Given the description of an element on the screen output the (x, y) to click on. 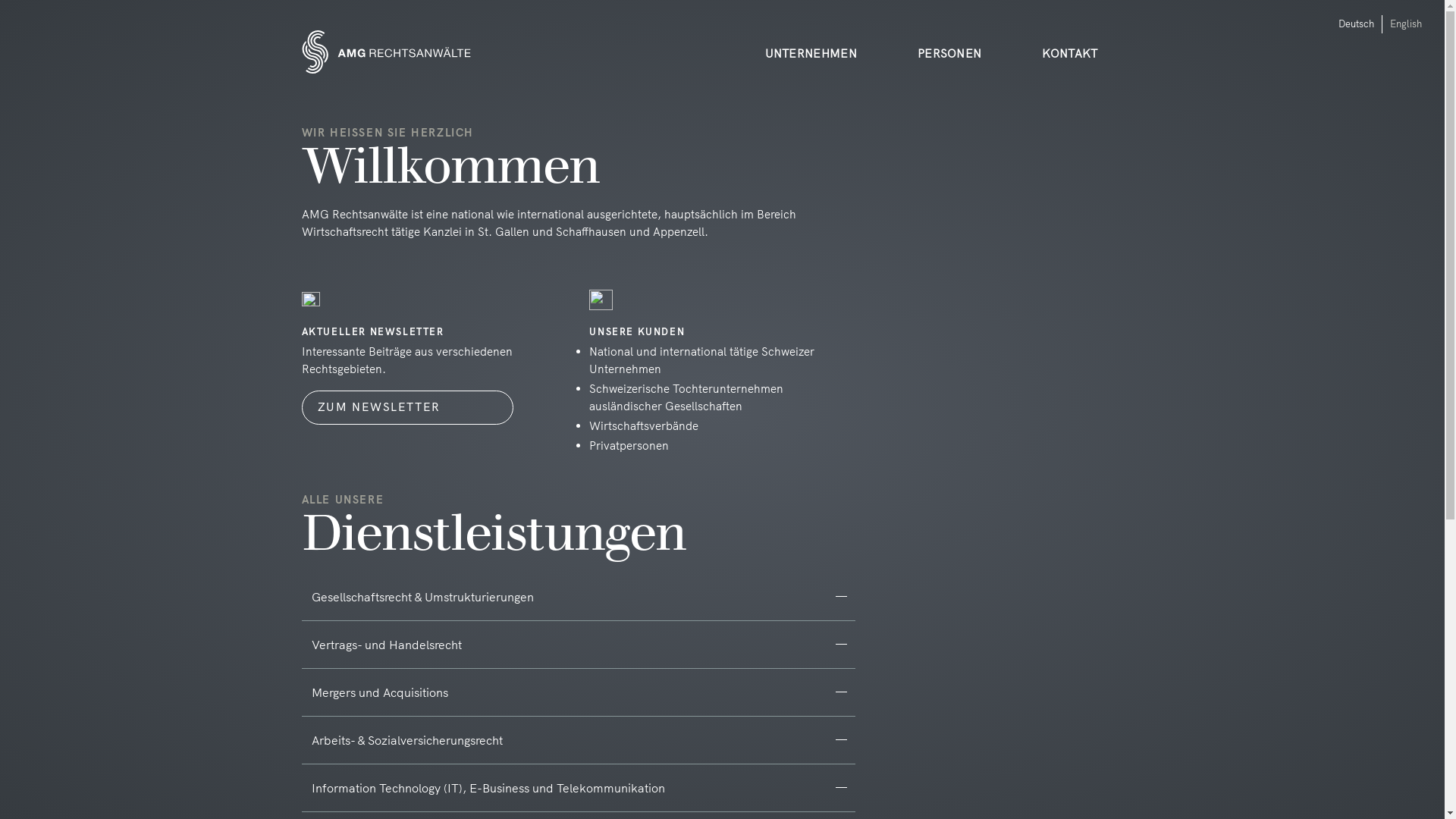
Vertrags- und Handelsrecht Element type: text (578, 644)
Mergers und Acquisitions Element type: text (578, 691)
ZUM NEWSLETTER Element type: text (407, 407)
KONTAKT Element type: text (1084, 39)
UNTERNEHMEN Element type: text (825, 39)
Arbeits- & Sozialversicherungsrecht Element type: text (578, 739)
English Element type: text (1405, 23)
Gesellschaftsrecht & Umstrukturierungen Element type: text (578, 596)
PERSONEN Element type: text (964, 39)
